Given the description of an element on the screen output the (x, y) to click on. 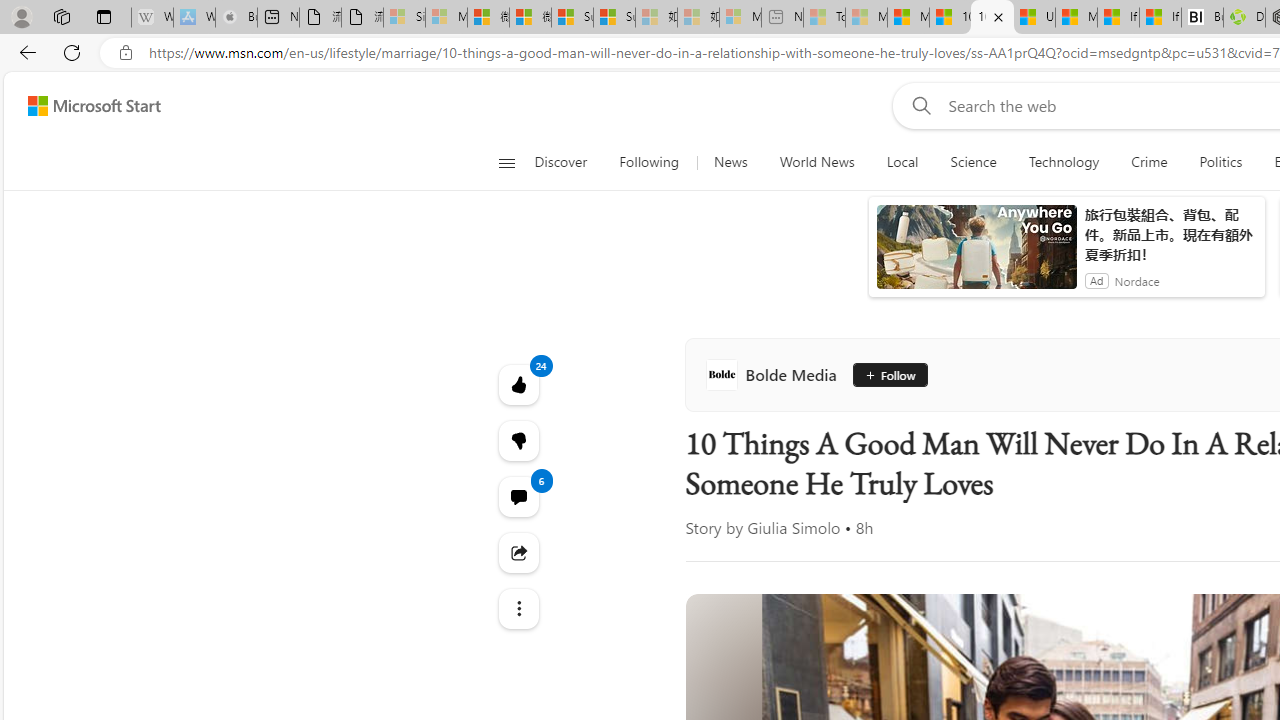
Local (902, 162)
Sign in to your Microsoft account - Sleeping (404, 17)
World News (816, 162)
Bolde Media (774, 374)
News (730, 162)
US Heat Deaths Soared To Record High Last Year (1033, 17)
Descarga Driver Updater (1243, 17)
Top Stories - MSN - Sleeping (823, 17)
World News (817, 162)
News (729, 162)
Follow (890, 374)
Buy iPad - Apple - Sleeping (236, 17)
24 Like (517, 384)
